Given the description of an element on the screen output the (x, y) to click on. 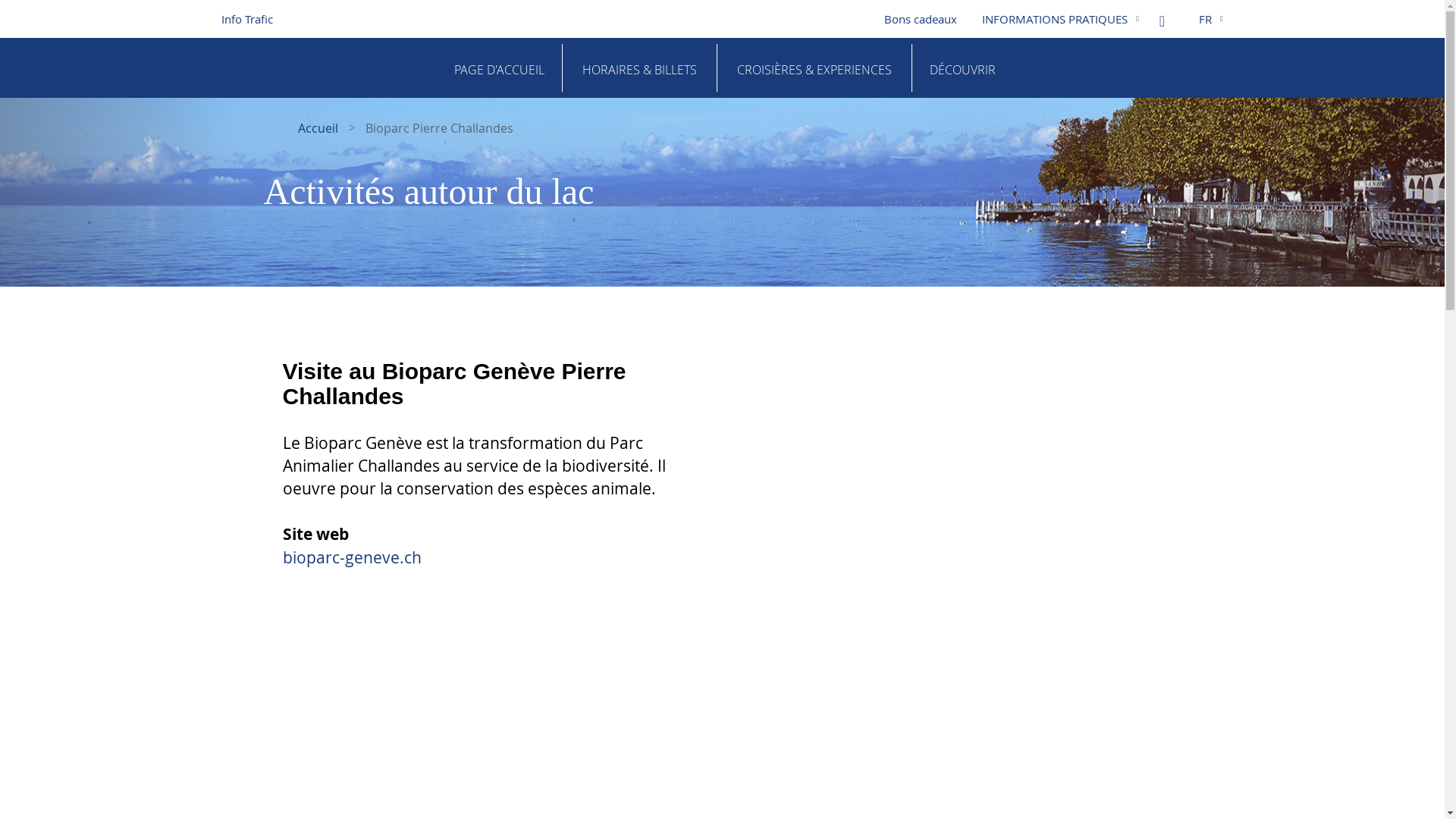
Accueil Element type: text (318, 127)
bioparc-geneve.ch Element type: text (351, 556)
Info Trafic Element type: text (246, 18)
PAGE D'ACCUEIL Element type: text (498, 67)
Bons cadeaux Element type: text (928, 18)
HORAIRES & BILLETS Element type: text (638, 67)
Rechercher Element type: text (1167, 14)
